Given the description of an element on the screen output the (x, y) to click on. 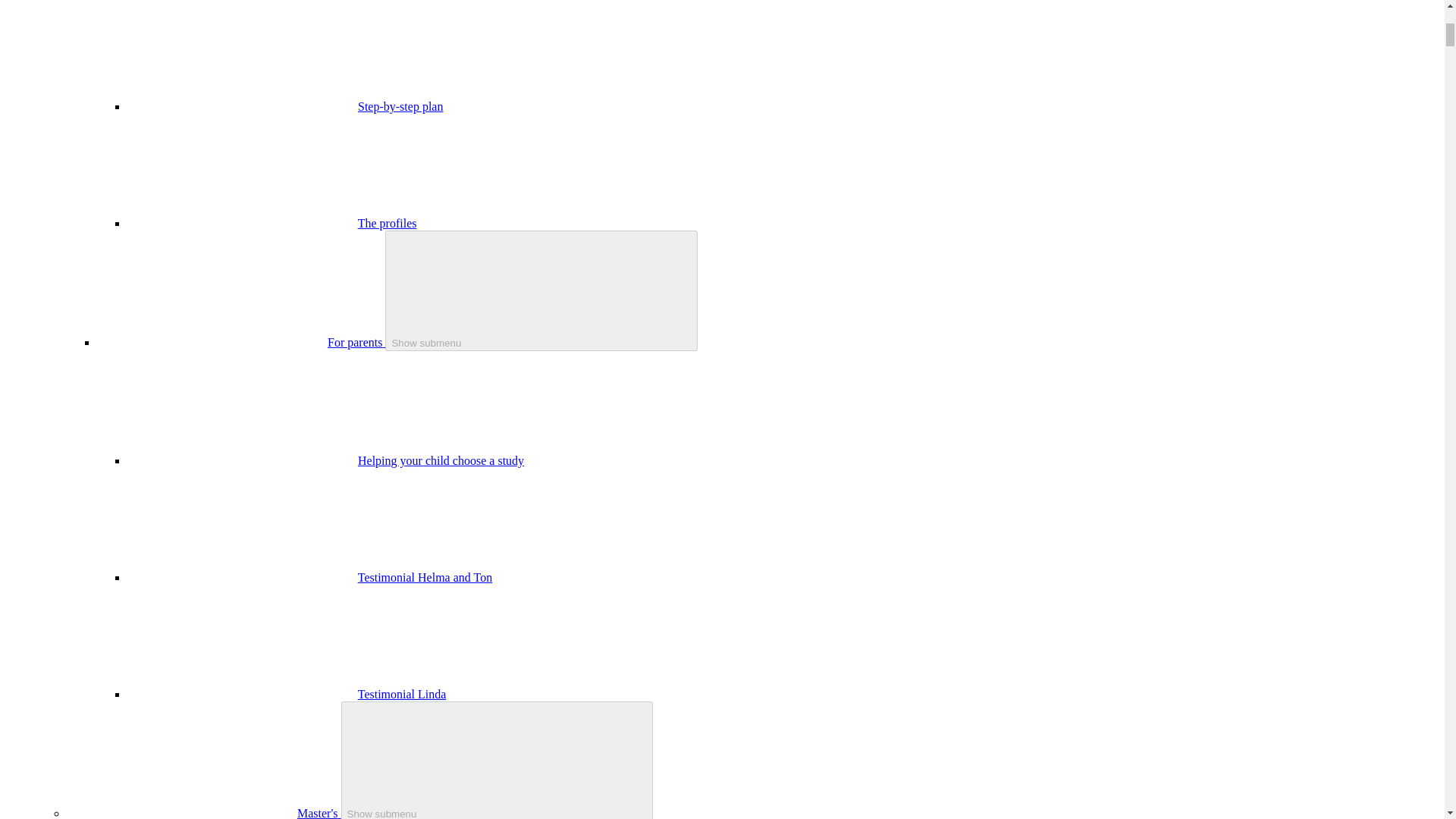
Testimonial Linda (402, 694)
Step-by-step plan (400, 106)
Master's (318, 812)
Show submenu (496, 760)
The profiles (387, 223)
Testimonial Helma and Ton (425, 576)
Show submenu (541, 290)
For parents (356, 341)
Helping your child choose a study (441, 460)
